Given the description of an element on the screen output the (x, y) to click on. 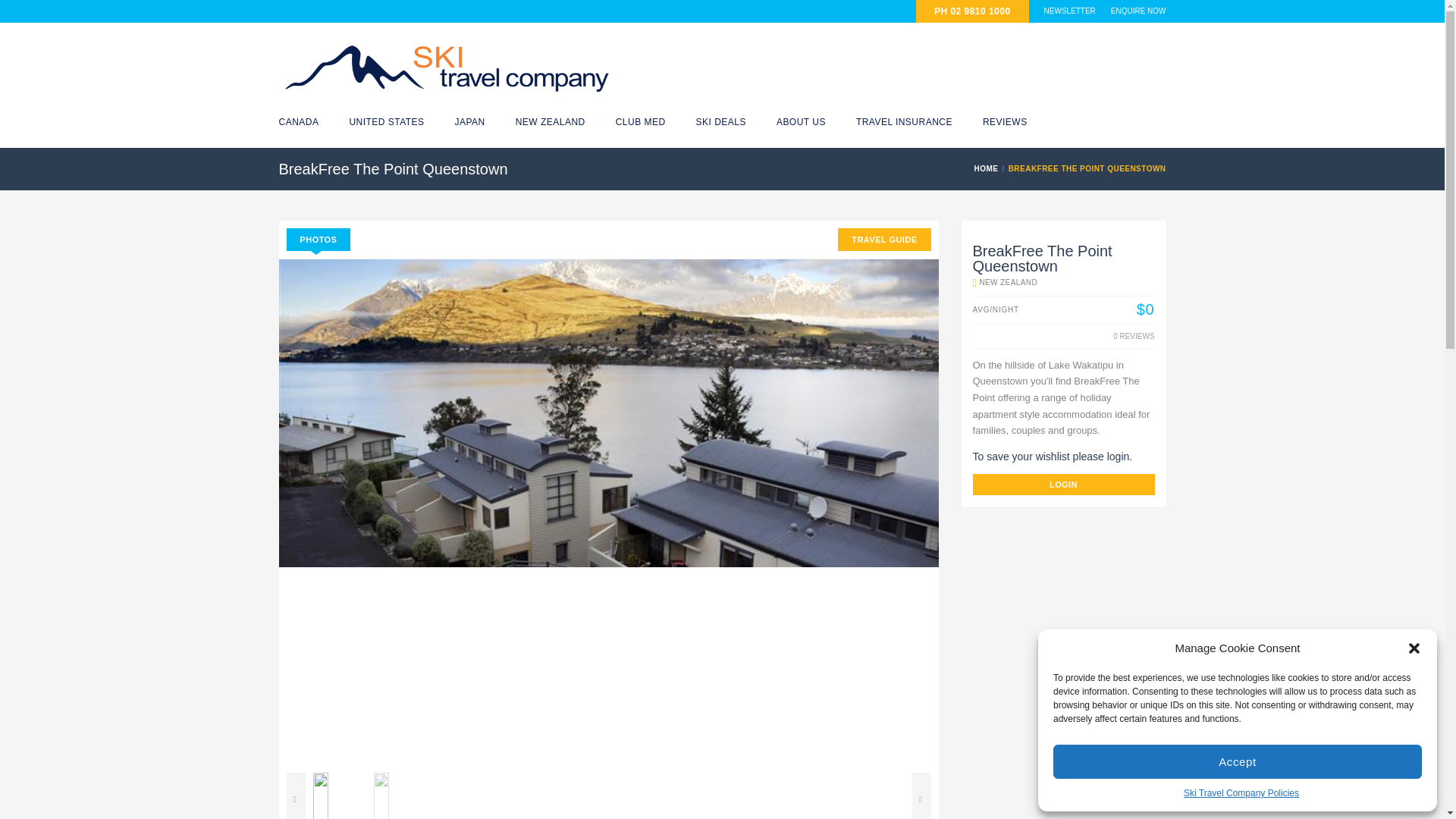
NEWSLETTER (1069, 11)
Accept (1237, 761)
ENQUIRE NOW (1138, 11)
PH 02 9810 1000 (972, 11)
Ski Travel Company Policies (1240, 793)
Ski USA (386, 122)
UNITED STATES (386, 122)
